Given the description of an element on the screen output the (x, y) to click on. 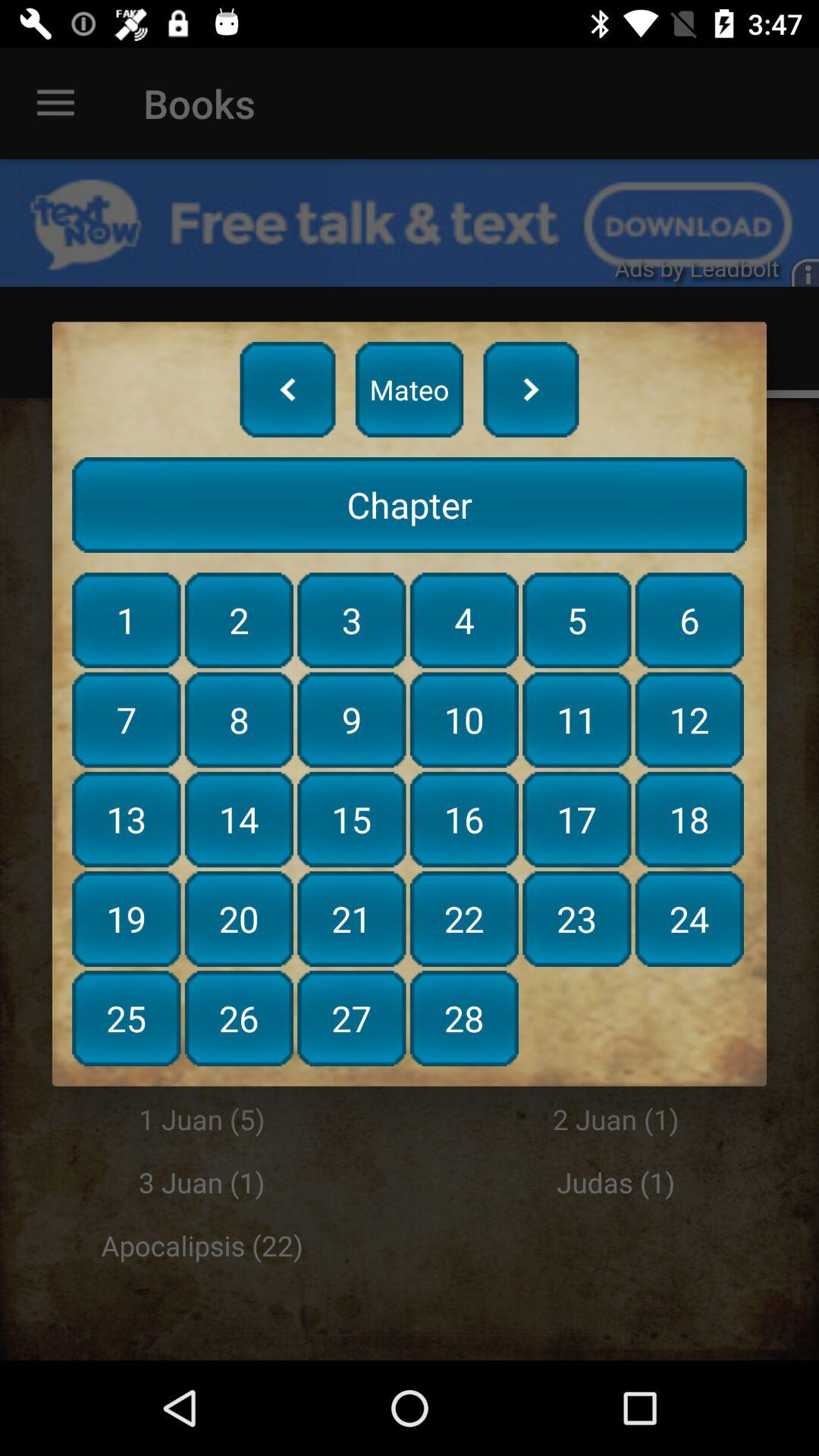
launch item above chapter item (287, 389)
